Given the description of an element on the screen output the (x, y) to click on. 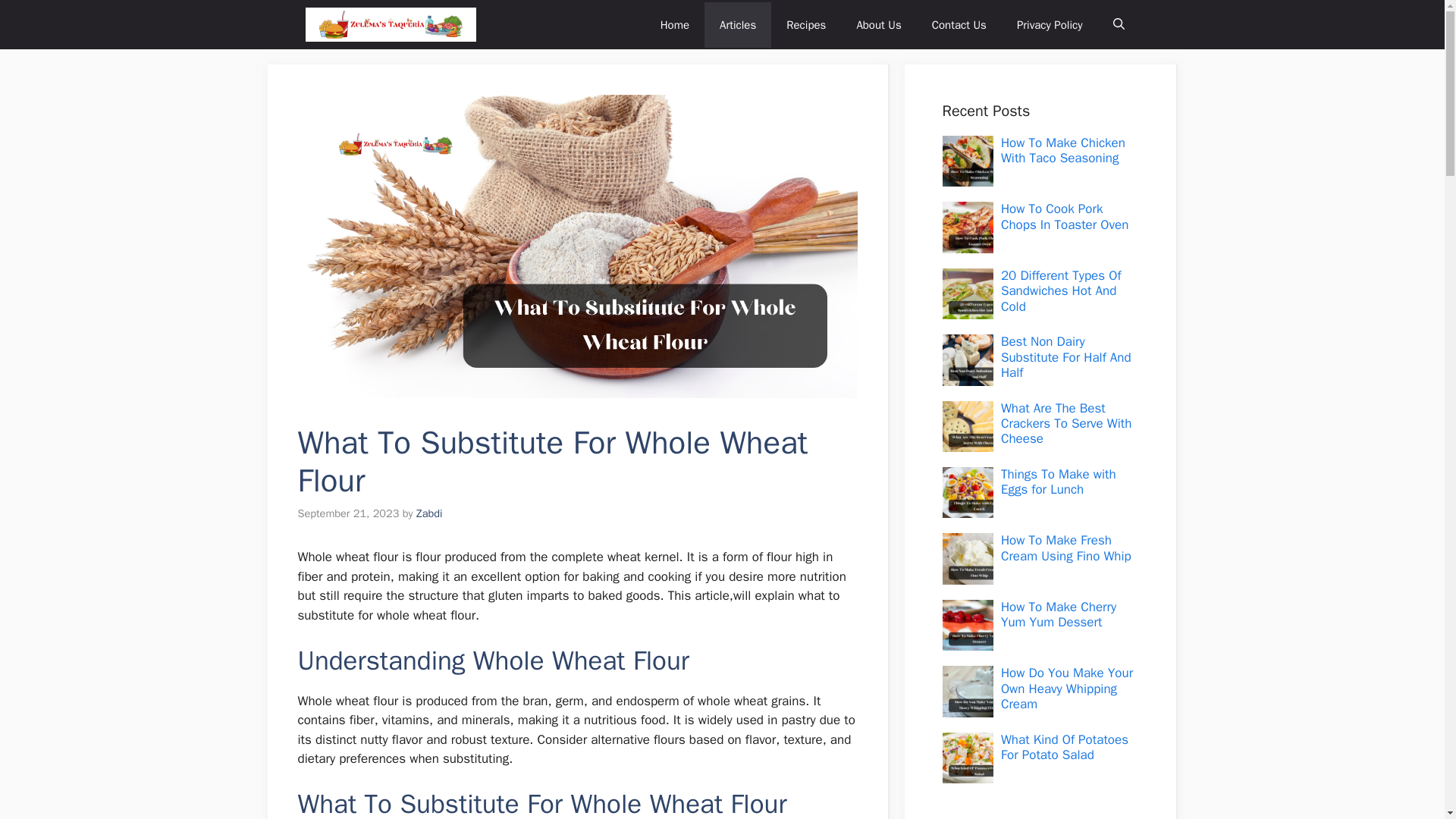
How To Cook Pork Chops In Toaster Oven (1064, 215)
About Us (878, 23)
What Kind Of Potatoes For Potato Salad (1064, 747)
Recipes (806, 23)
Privacy Policy (1049, 23)
How To Make Fresh Cream Using Fino Whip (1066, 547)
How To Make Cherry Yum Yum Dessert (1058, 613)
Zabdi (429, 513)
Contact Us (959, 23)
20 Different Types Of Sandwiches Hot And Cold (1061, 290)
How Do You Make Your Own Heavy Whipping Cream (1066, 688)
Home (674, 23)
Things To Make with Eggs for Lunch (1058, 481)
Best Non Dairy Substitute For Half And Half (1066, 356)
View all posts by Zabdi (429, 513)
